Given the description of an element on the screen output the (x, y) to click on. 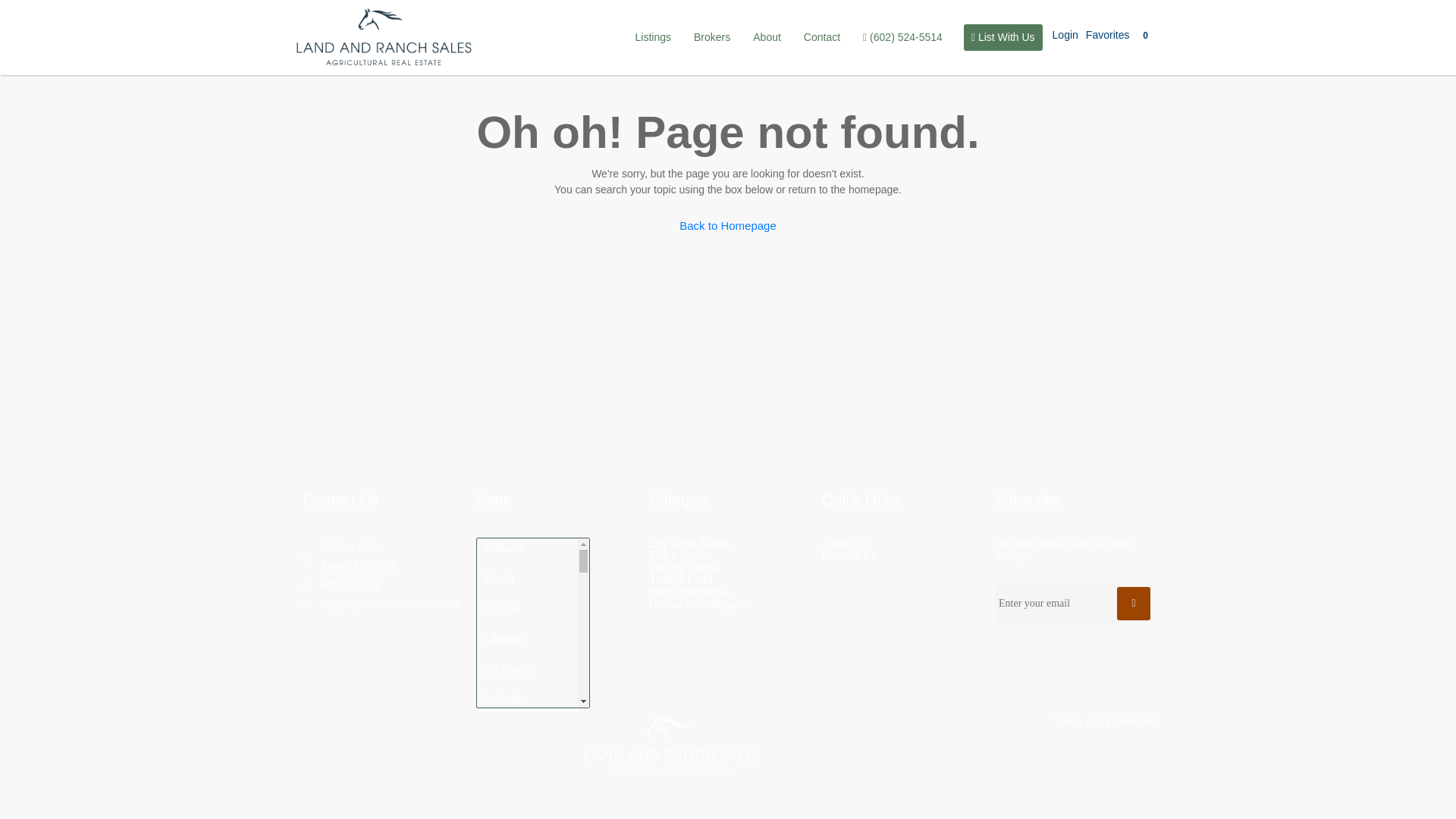
Florida (526, 790)
Arizona (526, 608)
About (766, 36)
Arkansas (526, 639)
Alabama (526, 552)
Brokers (711, 36)
California (526, 669)
Contact (821, 36)
Colorado (526, 699)
Alaska (526, 578)
